Given the description of an element on the screen output the (x, y) to click on. 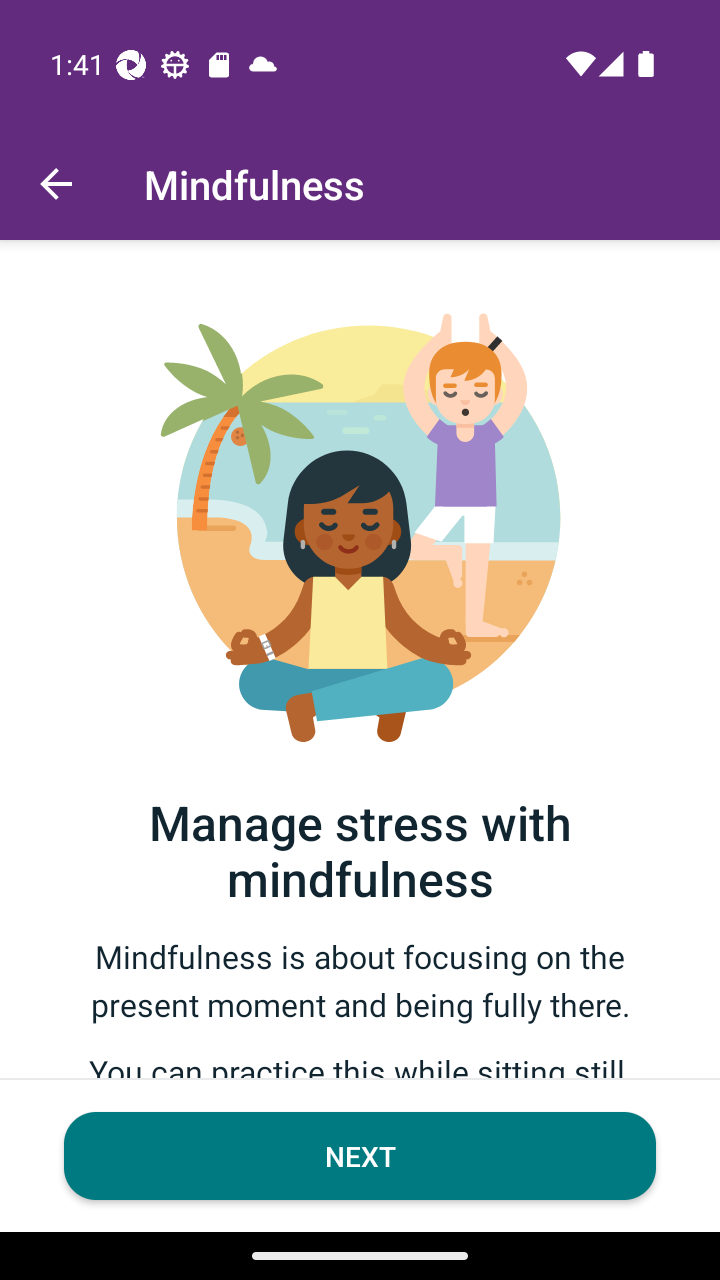
Navigate up (56, 184)
NEXT (359, 1156)
